Given the description of an element on the screen output the (x, y) to click on. 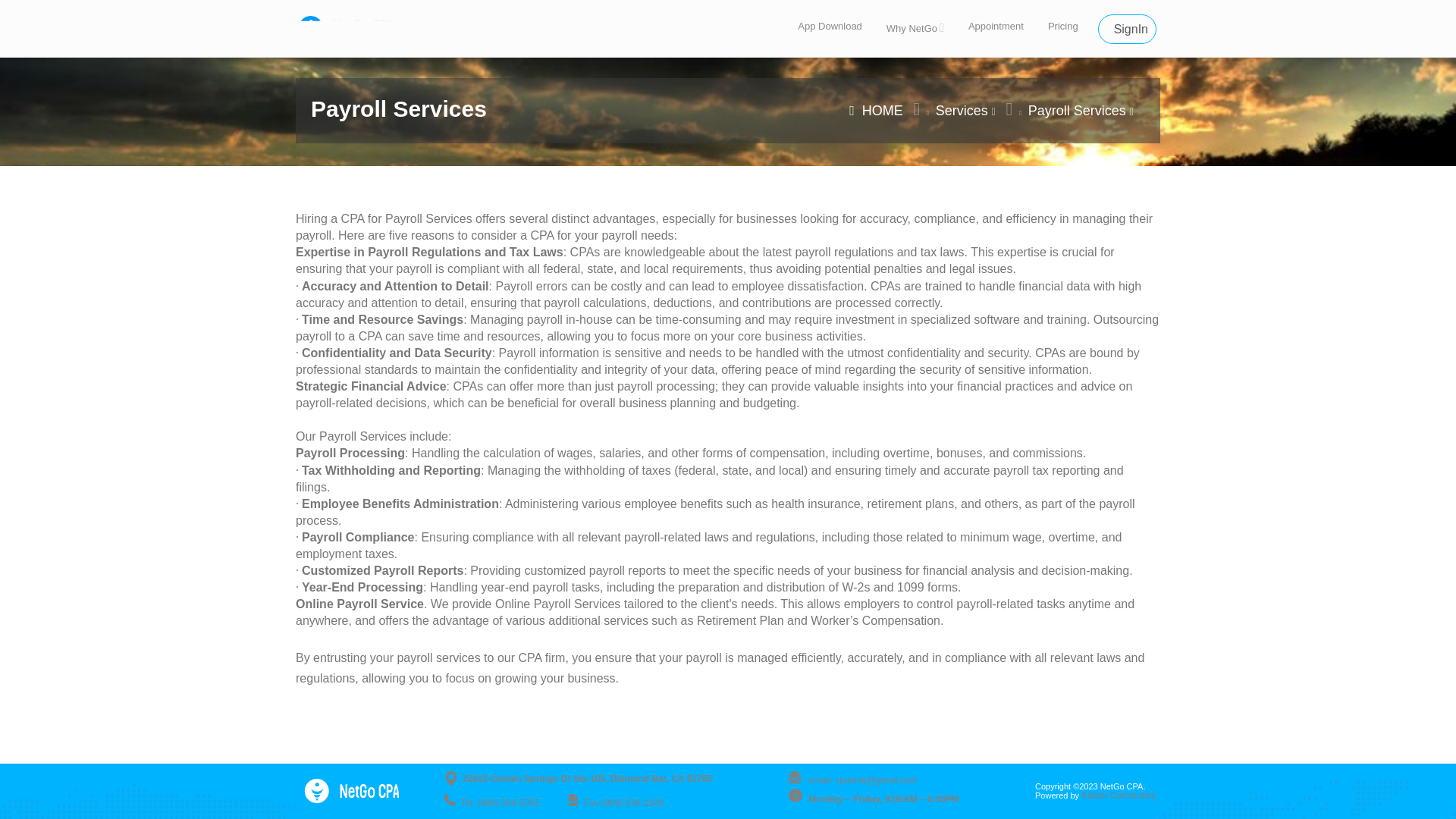
Services (962, 110)
22632 Golden Springs Dr Ste 105, Diamond Bar, CA 91765 (604, 778)
SignIn (1126, 29)
Pricing (1062, 26)
Why NetGo (915, 28)
Payroll Services (1076, 110)
HOME (875, 110)
Appointment (937, 28)
App Download (995, 26)
